Given the description of an element on the screen output the (x, y) to click on. 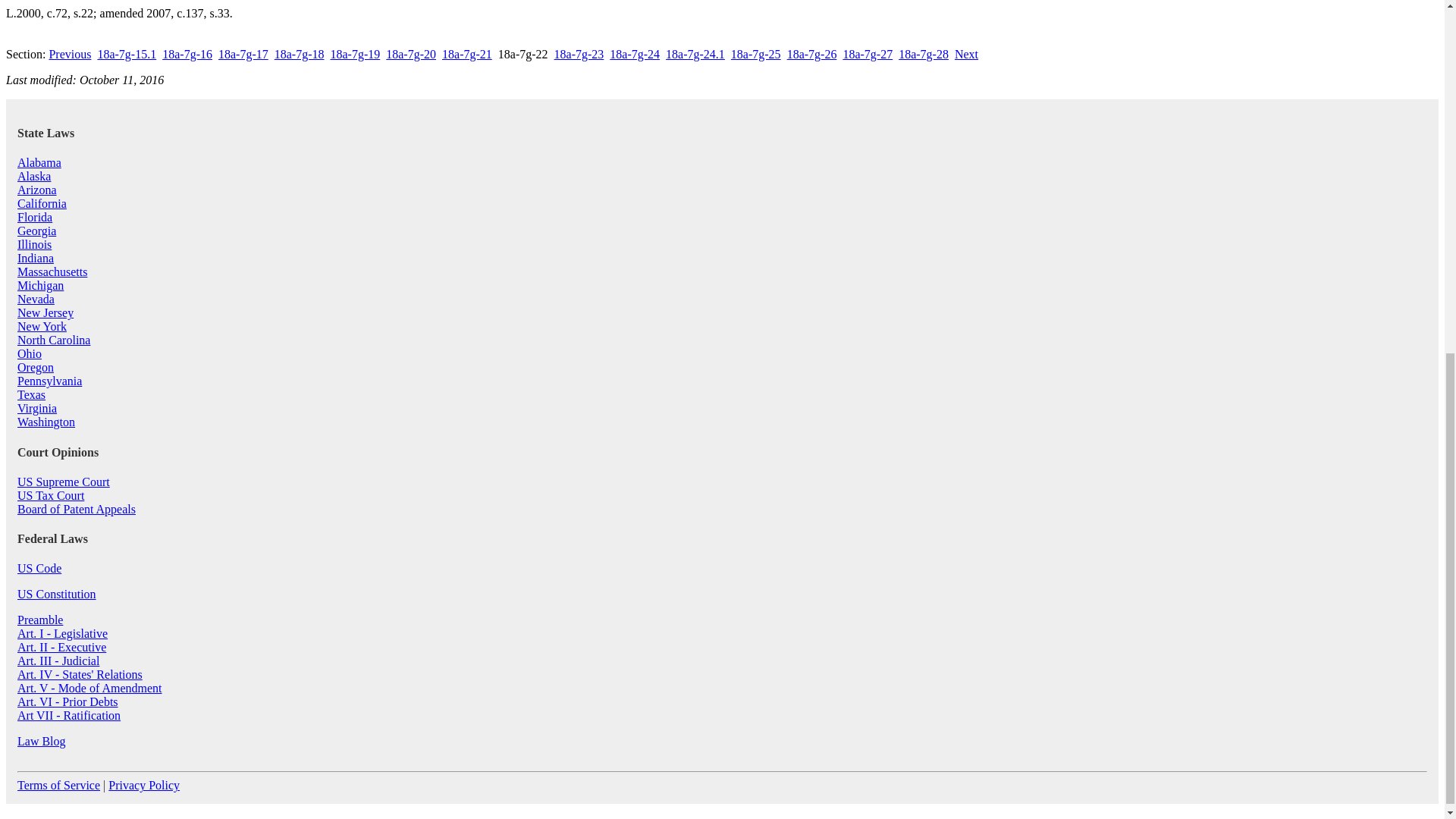
Indiana (35, 257)
18a-7g-23 (579, 53)
18a-7g-24 (634, 53)
18a-7g-25 (755, 53)
Alabama (39, 162)
18a-7g-15.1 (126, 53)
Arizona (36, 189)
Next (966, 53)
Alaska (33, 175)
18a-7g-16 (186, 53)
18a-7g-19 (355, 53)
Nevada (36, 298)
18a-7g-20 (410, 53)
Michigan (40, 285)
New York (41, 326)
